Given the description of an element on the screen output the (x, y) to click on. 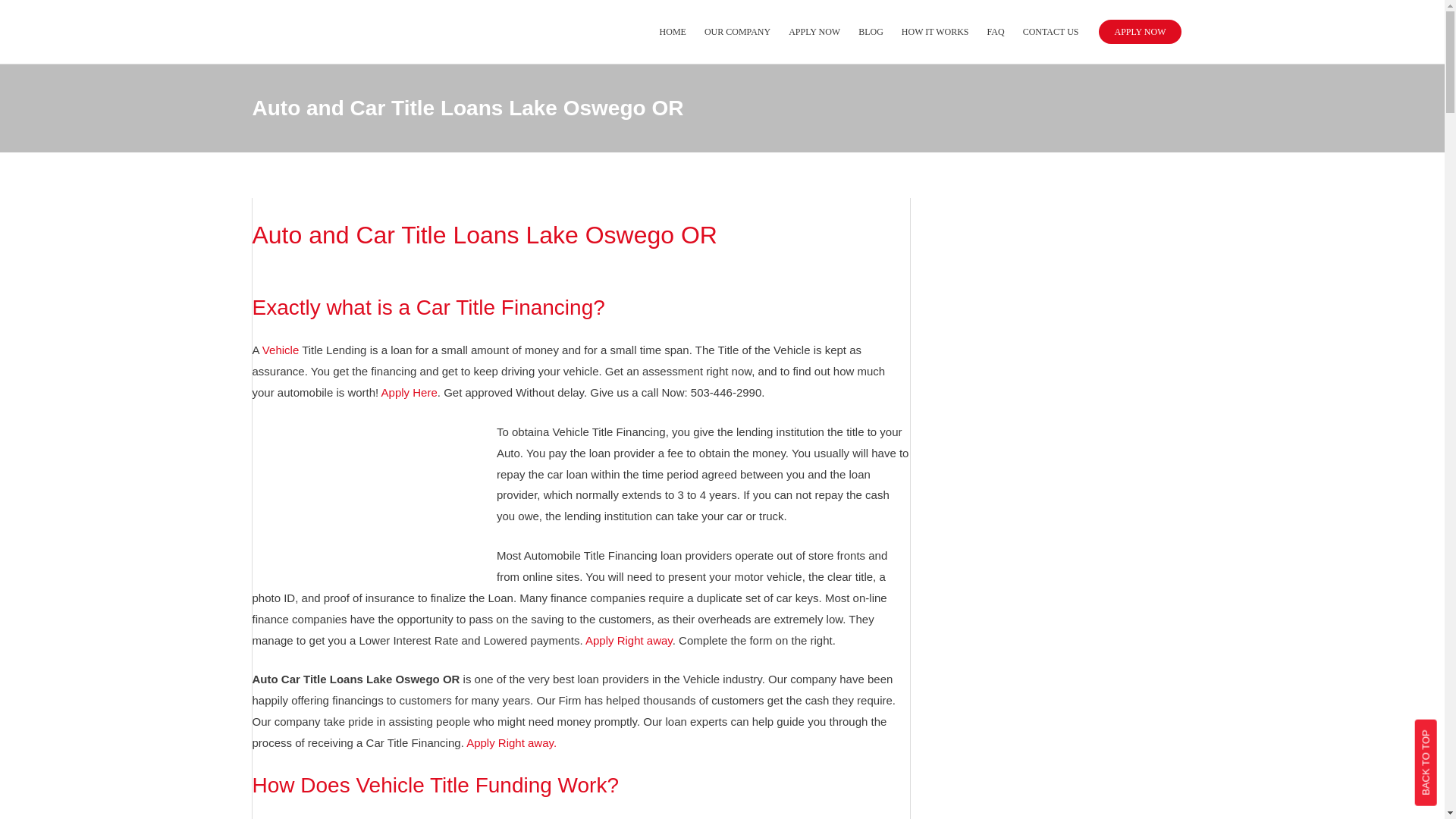
Apply Right away (628, 640)
Vehicle (280, 349)
APPLY NOW (813, 31)
HOME (672, 31)
APPLY NOW (1139, 31)
Apply Right away. (510, 742)
CONTACT US (1050, 31)
HOW IT WORKS (935, 31)
Apply Here (409, 391)
OUR COMPANY (736, 31)
Exactly what is a Car Title Financing? (427, 307)
Pink Slip (860, 818)
BLOG (870, 31)
